Given the description of an element on the screen output the (x, y) to click on. 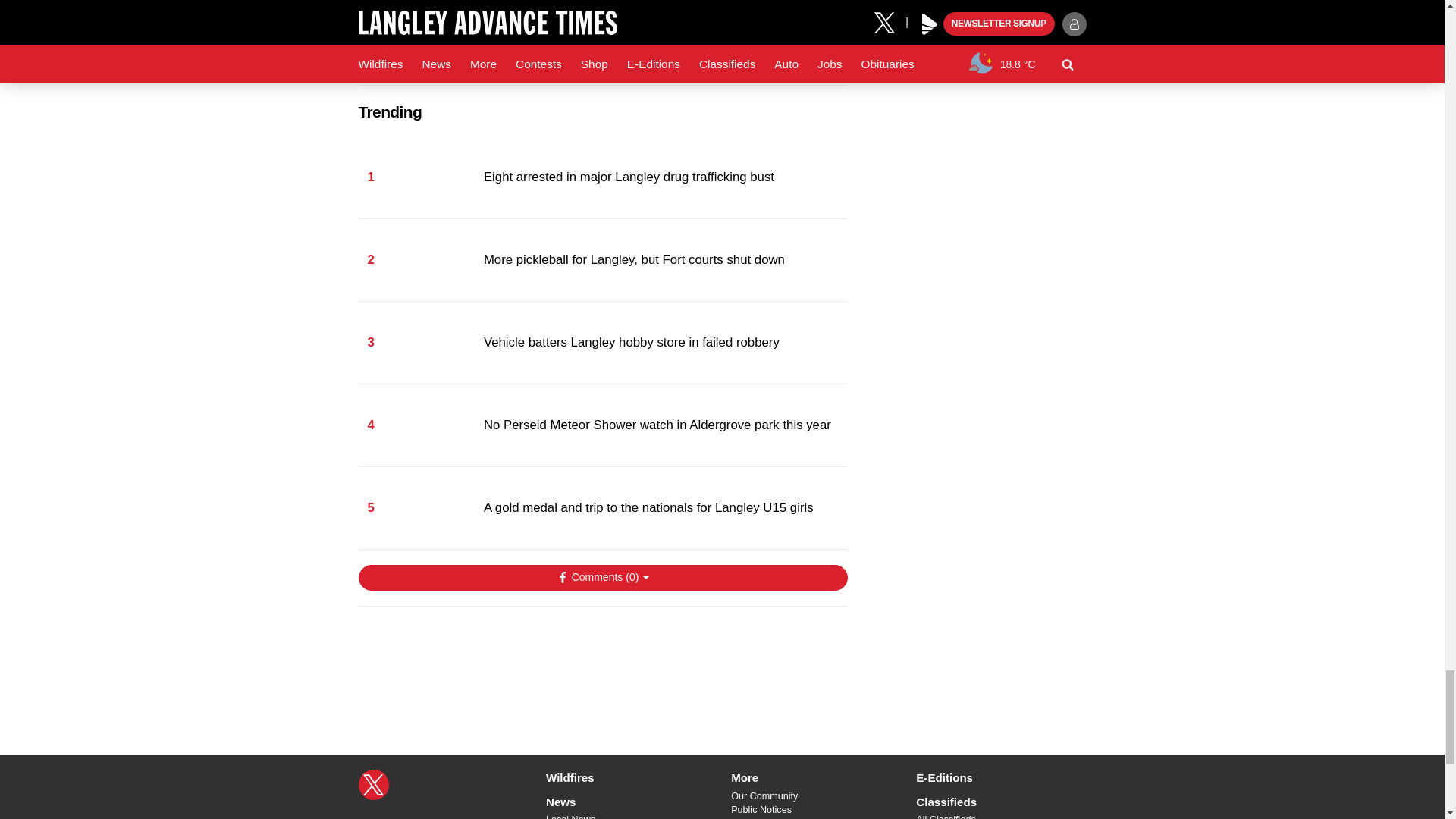
X (373, 784)
Show Comments (602, 577)
